Given the description of an element on the screen output the (x, y) to click on. 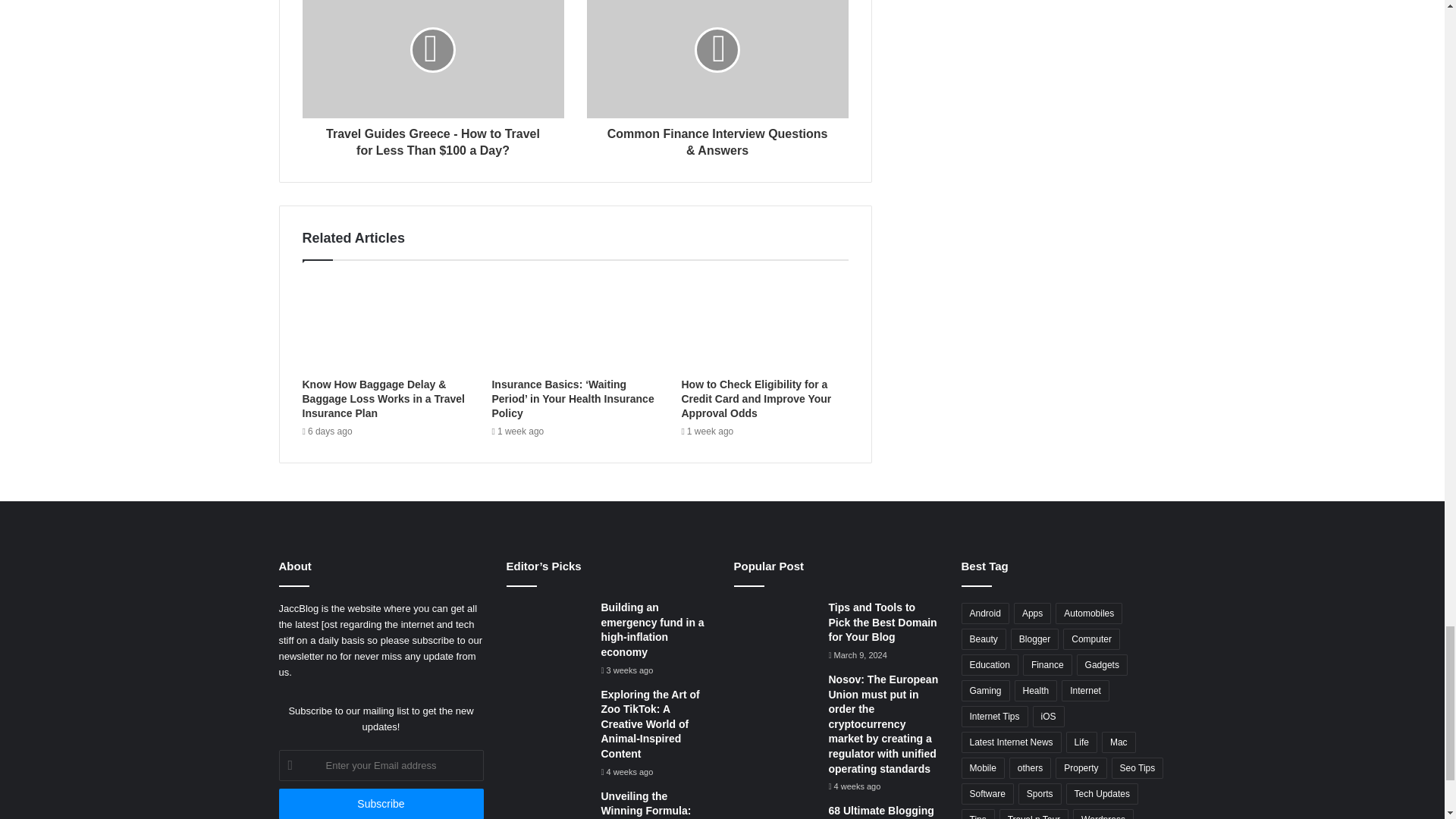
Subscribe (381, 803)
